Given the description of an element on the screen output the (x, y) to click on. 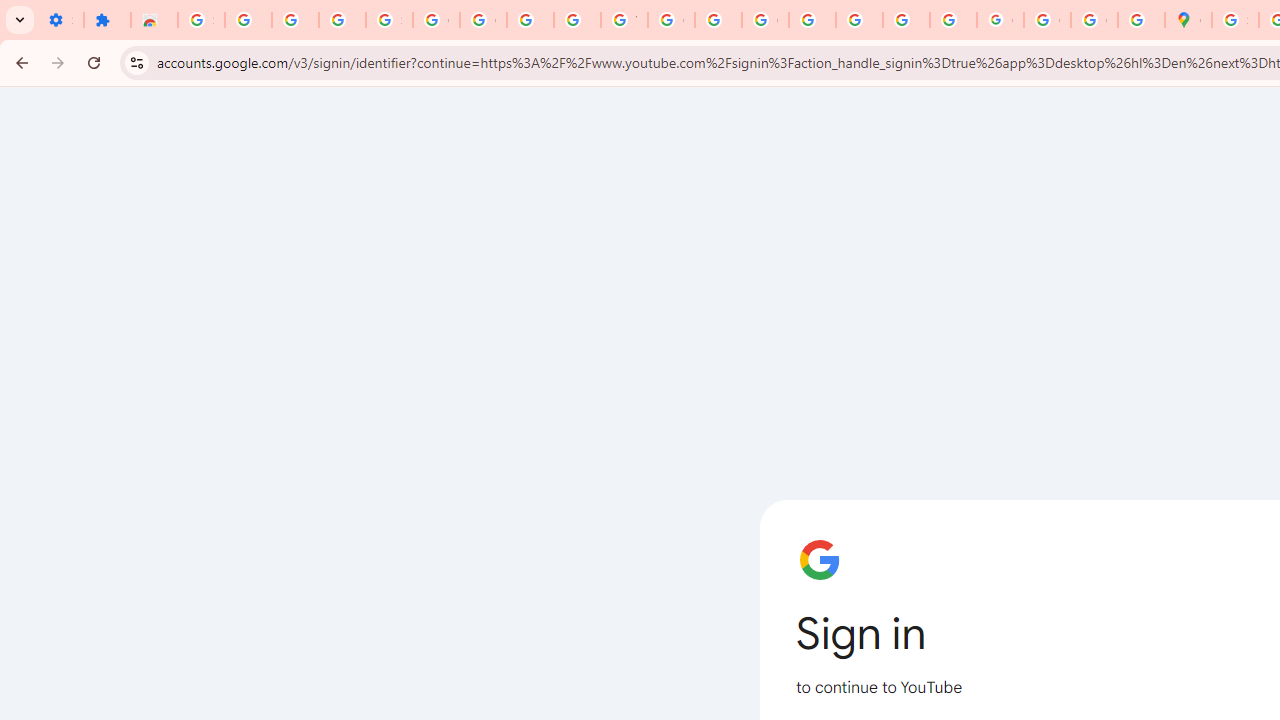
Settings - On startup (60, 20)
Reviews: Helix Fruit Jump Arcade Game (153, 20)
Privacy Help Center - Policies Help (811, 20)
Google Maps (1188, 20)
Sign in - Google Accounts (201, 20)
Google Account Help (482, 20)
Google Account Help (436, 20)
